Given the description of an element on the screen output the (x, y) to click on. 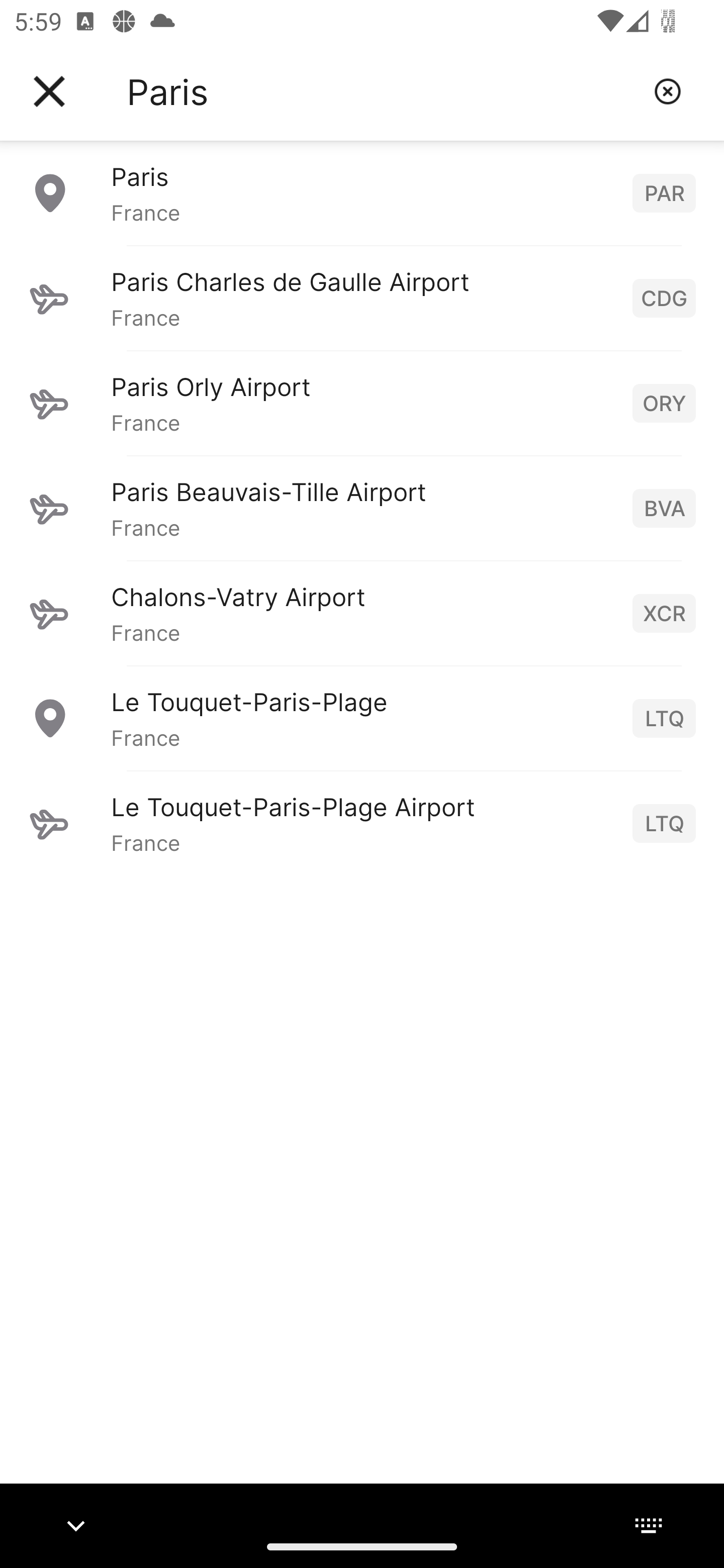
Paris (382, 91)
Paris France PAR (362, 192)
Paris Charles de Gaulle Airport France CDG (362, 297)
Paris Orly Airport France ORY (362, 402)
Paris Beauvais-Tille Airport France BVA (362, 507)
Chalons-Vatry Airport France XCR (362, 612)
Le Touquet-Paris-Plage France LTQ (362, 717)
Le Touquet-Paris-Plage Airport France LTQ (362, 822)
